Given the description of an element on the screen output the (x, y) to click on. 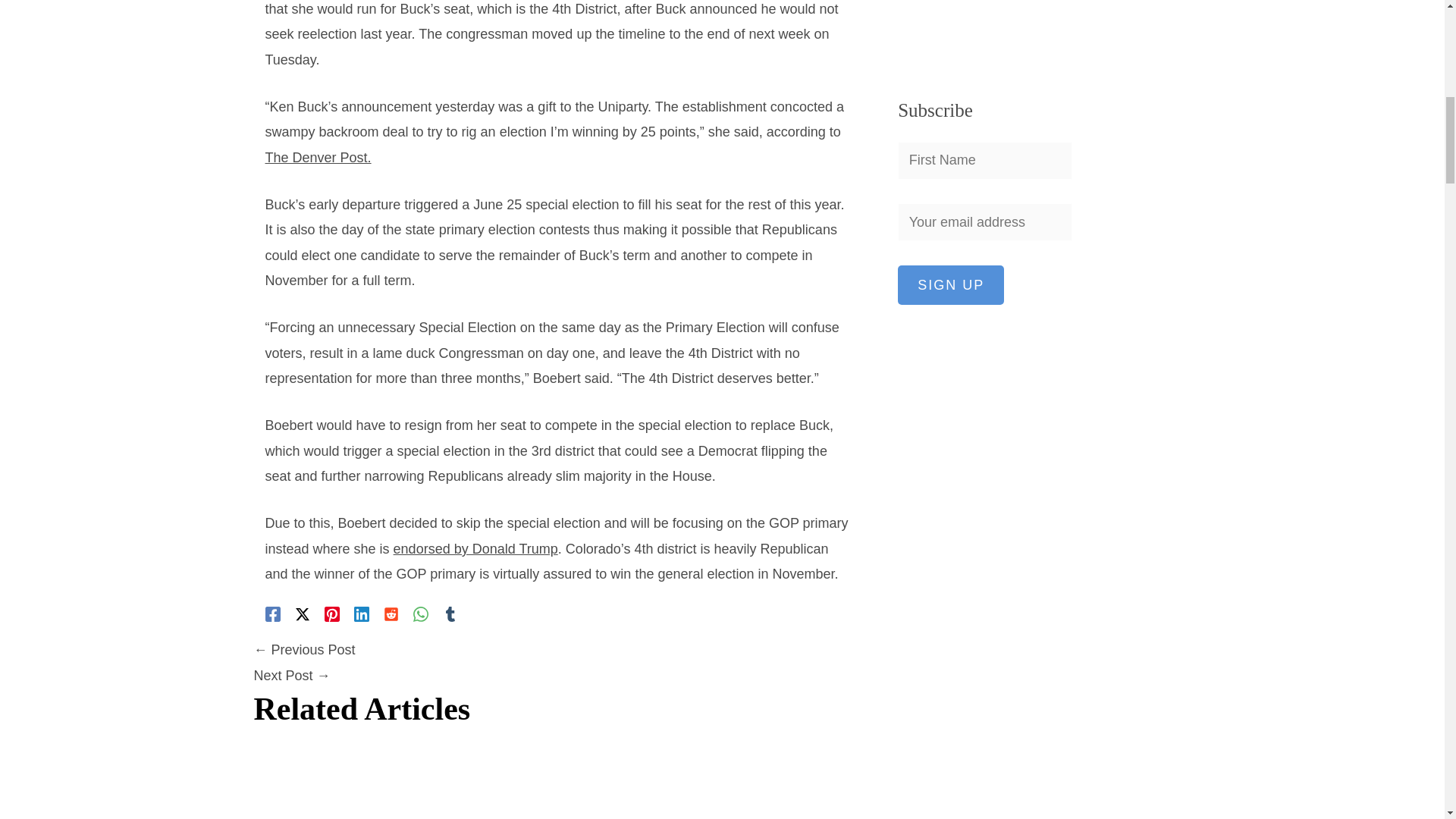
endorsed by Donald Trump (475, 548)
The Denver Post. (317, 157)
